Given the description of an element on the screen output the (x, y) to click on. 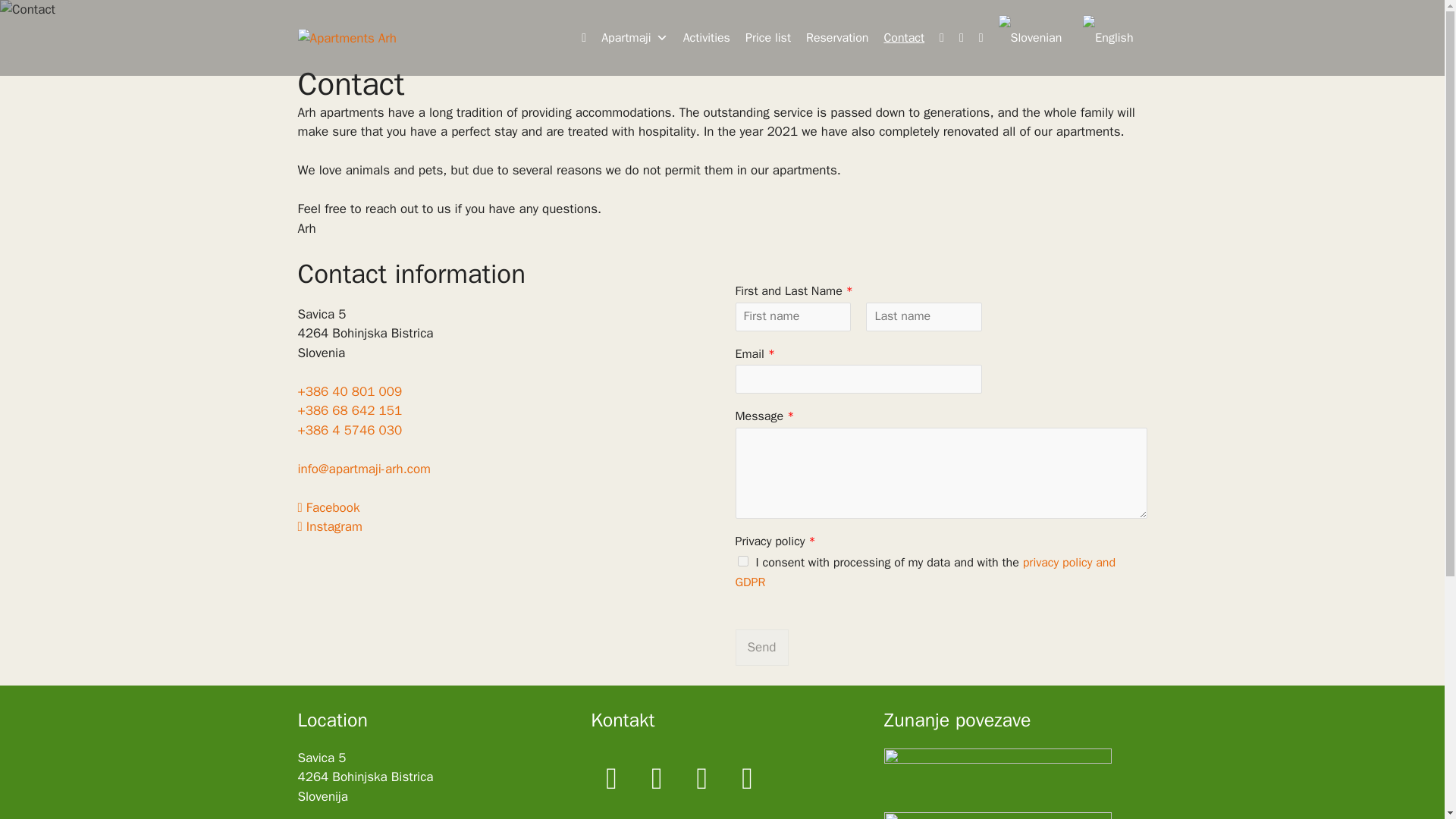
Apartments Arh (346, 38)
Contact (903, 37)
Apartments Arh (346, 37)
Apartmaji (634, 37)
Price list (767, 37)
Activities (706, 37)
Reservation (836, 37)
